Given the description of an element on the screen output the (x, y) to click on. 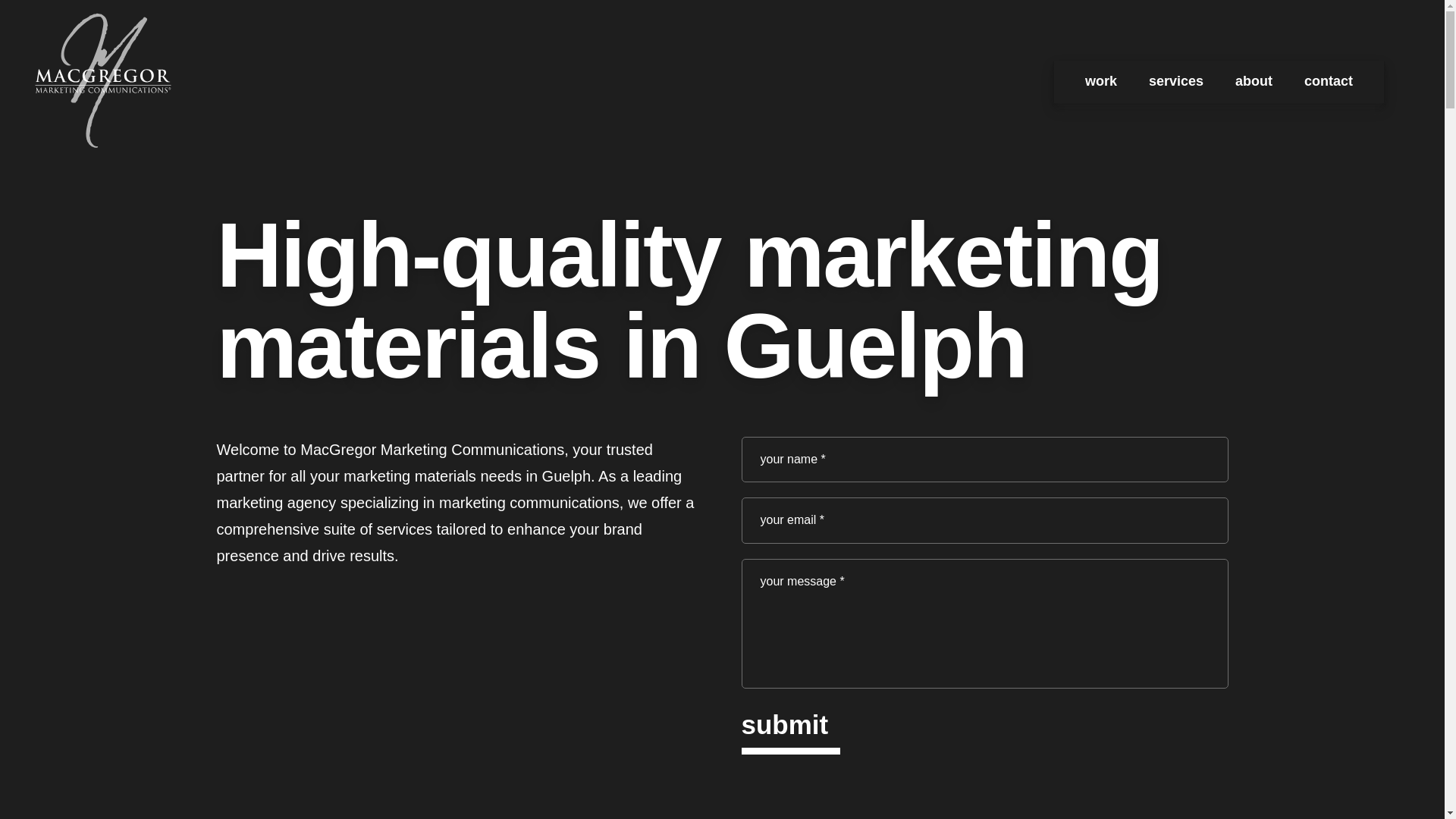
about (1254, 81)
contact (1328, 81)
work (1100, 81)
services (1176, 81)
submit (784, 729)
